Given the description of an element on the screen output the (x, y) to click on. 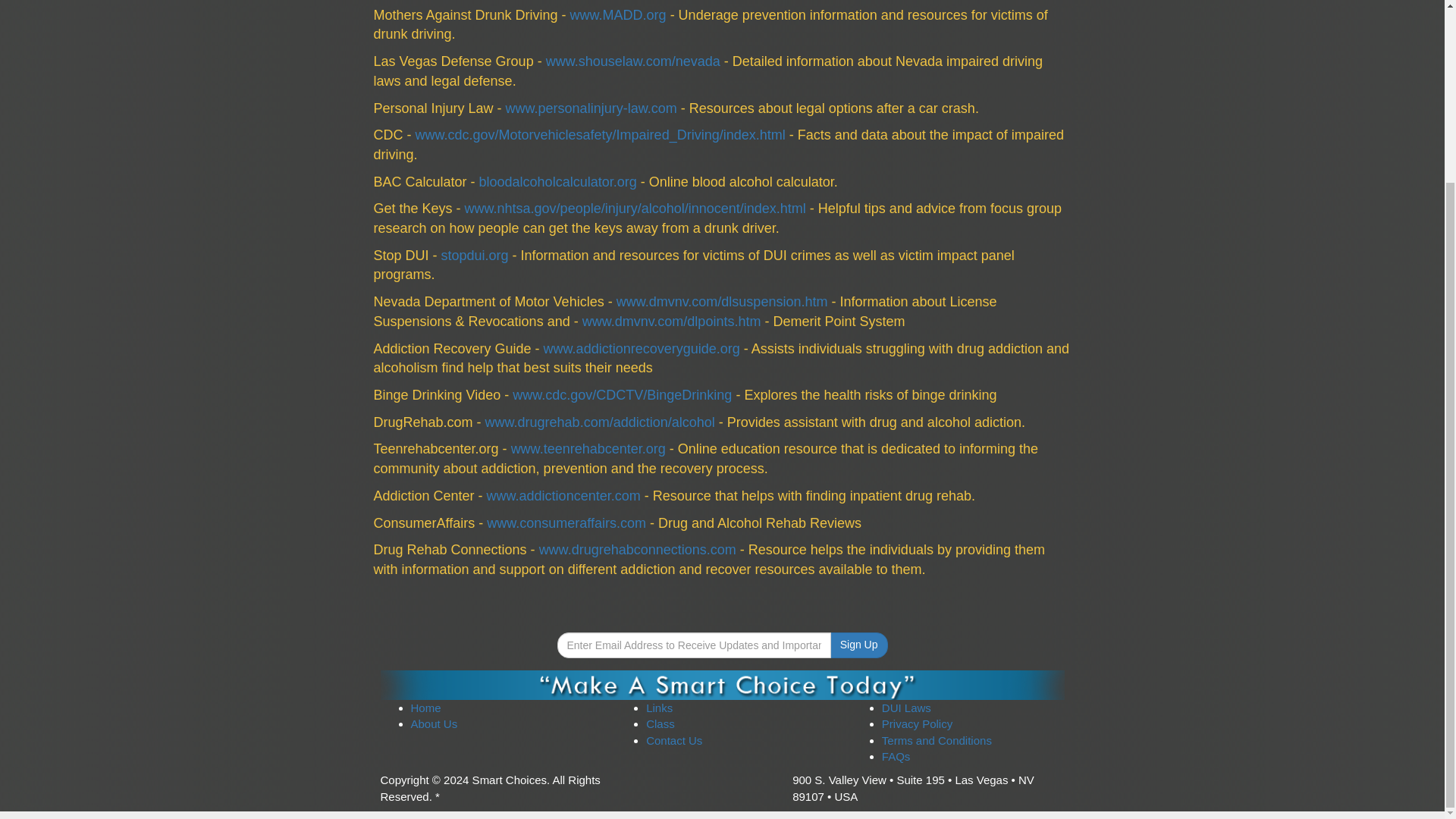
www.drugrehabconnections.com (637, 549)
Links (659, 707)
www.teenrehabcenter.org (588, 448)
bloodalcoholcalculator.org (558, 181)
www.personalinjury-law.com (591, 108)
www.addictioncenter.com (563, 495)
www.MADD.org (618, 14)
About Us (434, 723)
Sign Up (858, 645)
Home (425, 707)
www.consumeraffairs.com (566, 522)
www.addictionrecoveryguide.org (641, 348)
stopdui.org (474, 255)
Class (660, 723)
